Given the description of an element on the screen output the (x, y) to click on. 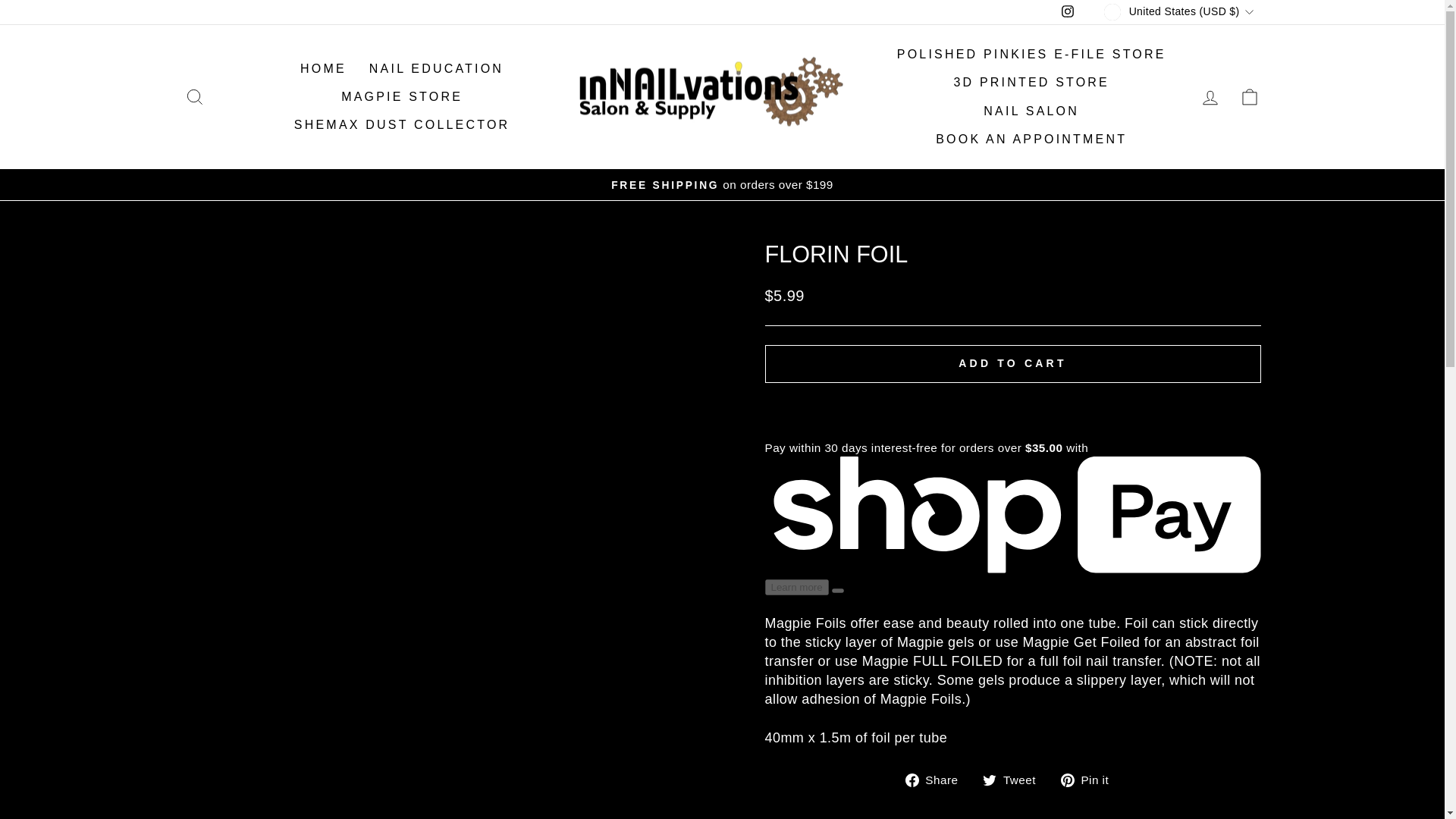
Pin on Pinterest (1090, 779)
Share on Facebook (937, 779)
Tweet on Twitter (1014, 779)
